Given the description of an element on the screen output the (x, y) to click on. 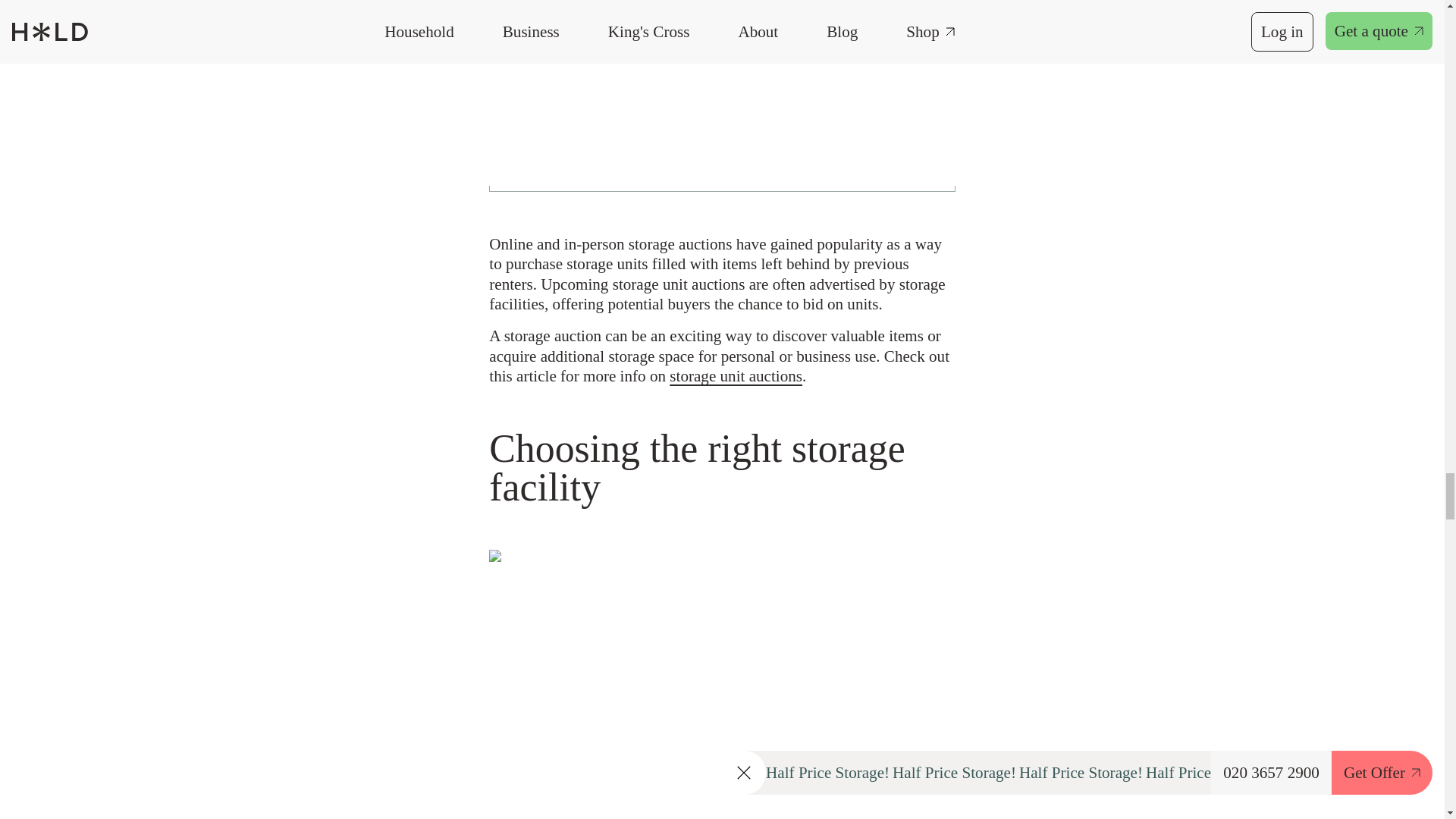
storage unit auctions (735, 375)
